Given the description of an element on the screen output the (x, y) to click on. 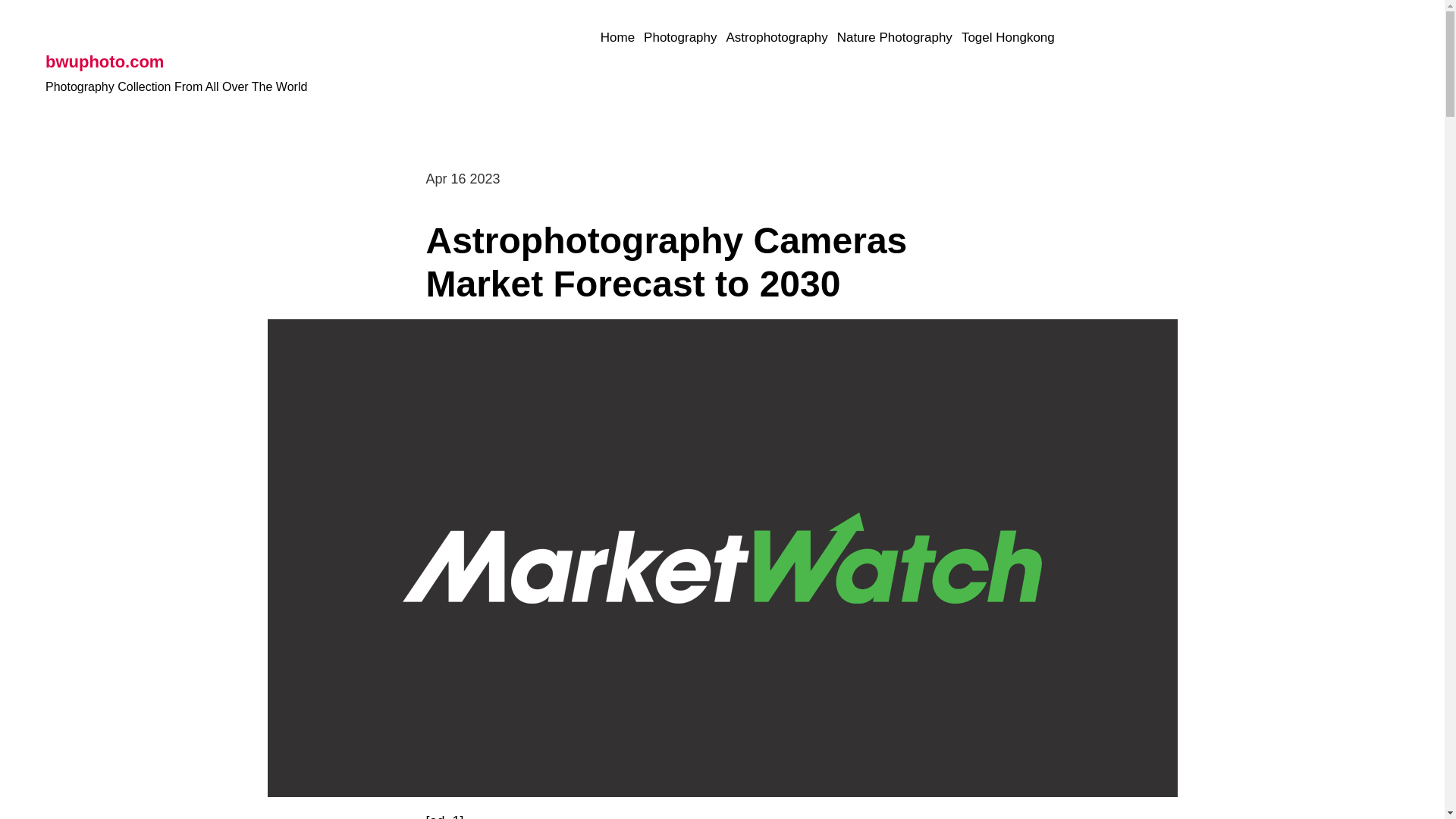
Photography (679, 38)
bwuphoto.com (104, 62)
Apr 16 2023 (463, 179)
Nature Photography (894, 38)
Astrophotography (777, 38)
Togel Hongkong (1007, 38)
Home (616, 38)
